Given the description of an element on the screen output the (x, y) to click on. 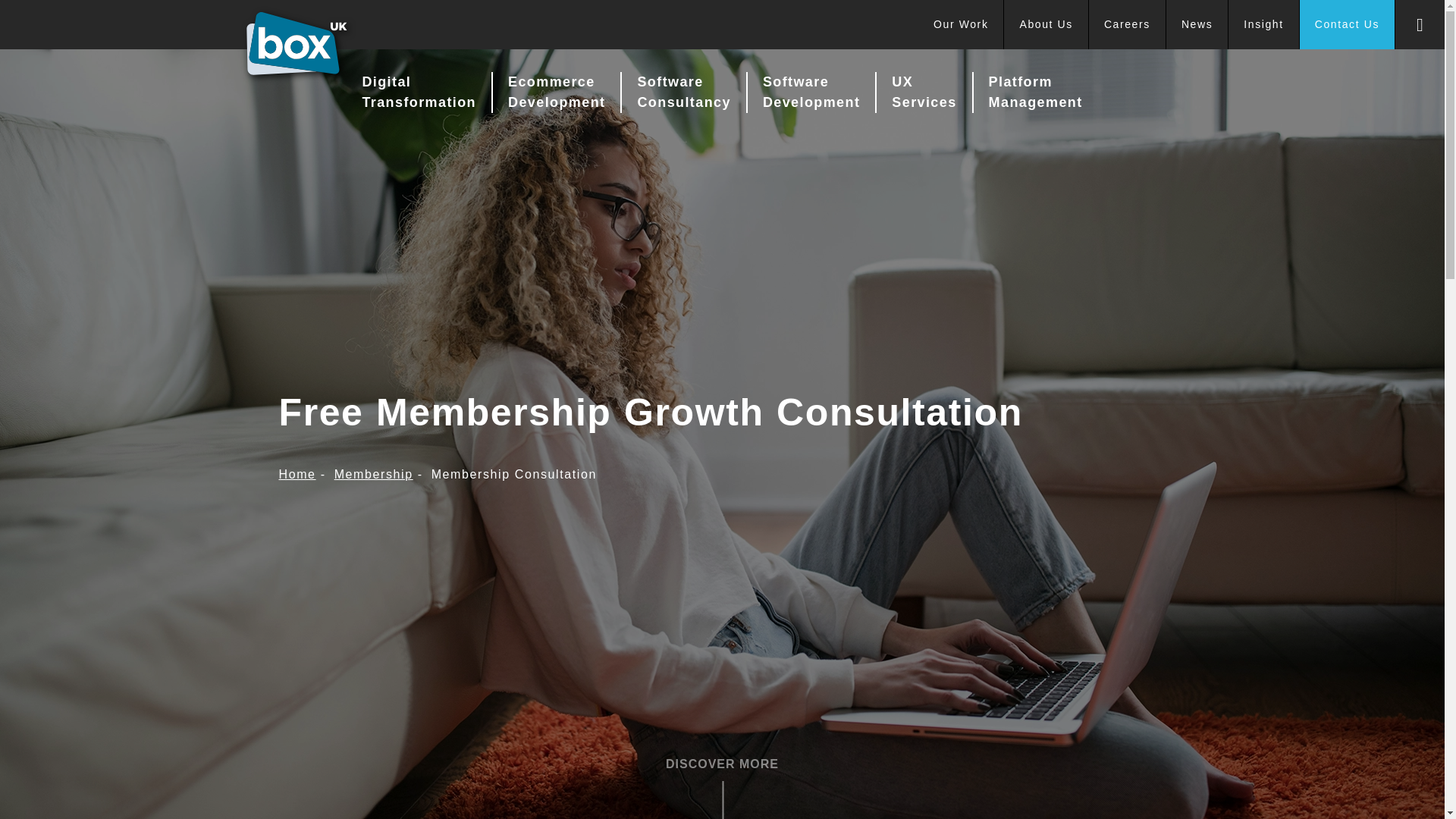
Insight (1263, 24)
About Us (1045, 24)
Careers (1127, 24)
Contact Us (1347, 24)
Our Work (961, 24)
DISCOVER MORE (721, 764)
News (1197, 24)
